Given the description of an element on the screen output the (x, y) to click on. 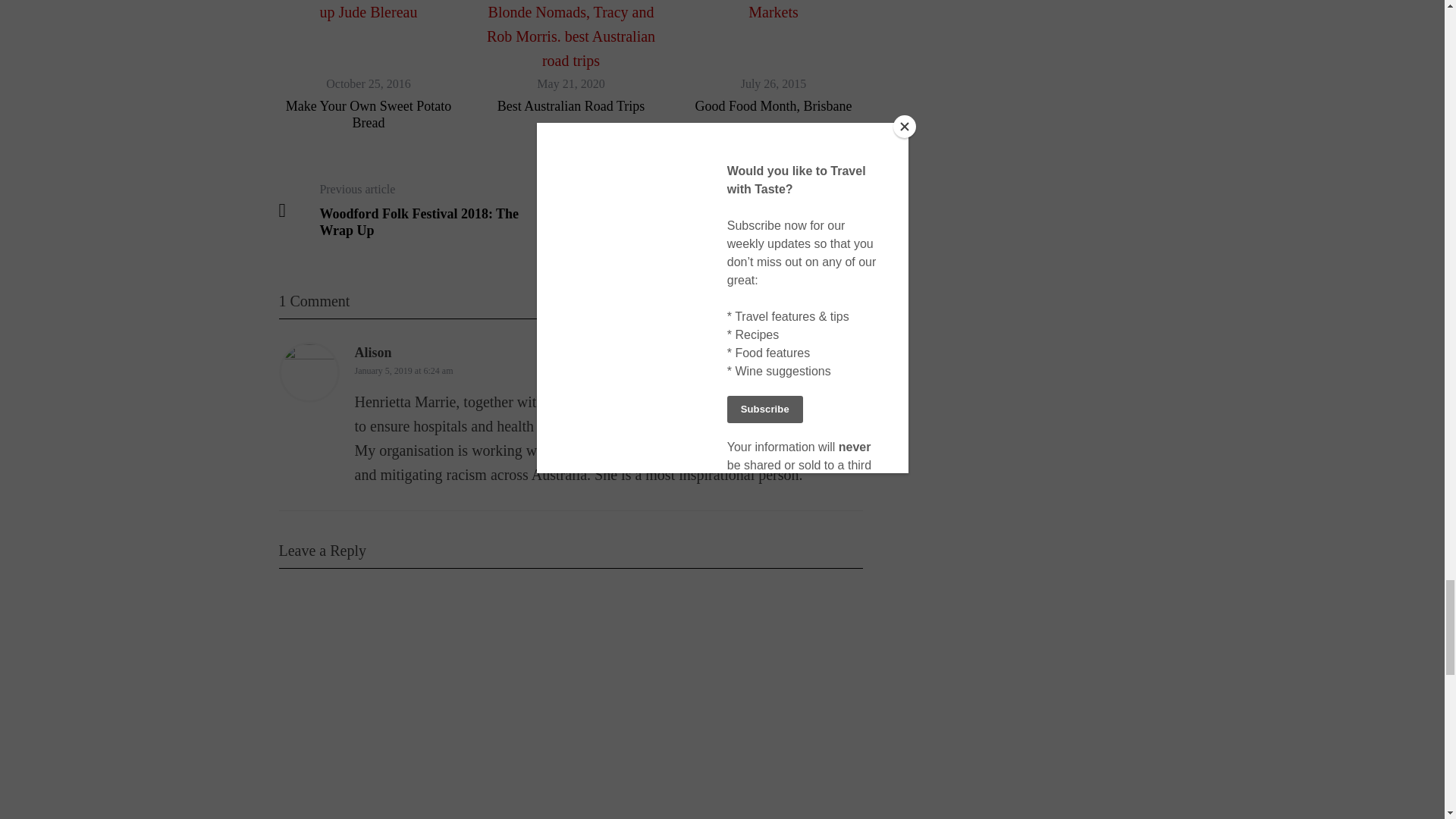
Comment Form (571, 705)
